Given the description of an element on the screen output the (x, y) to click on. 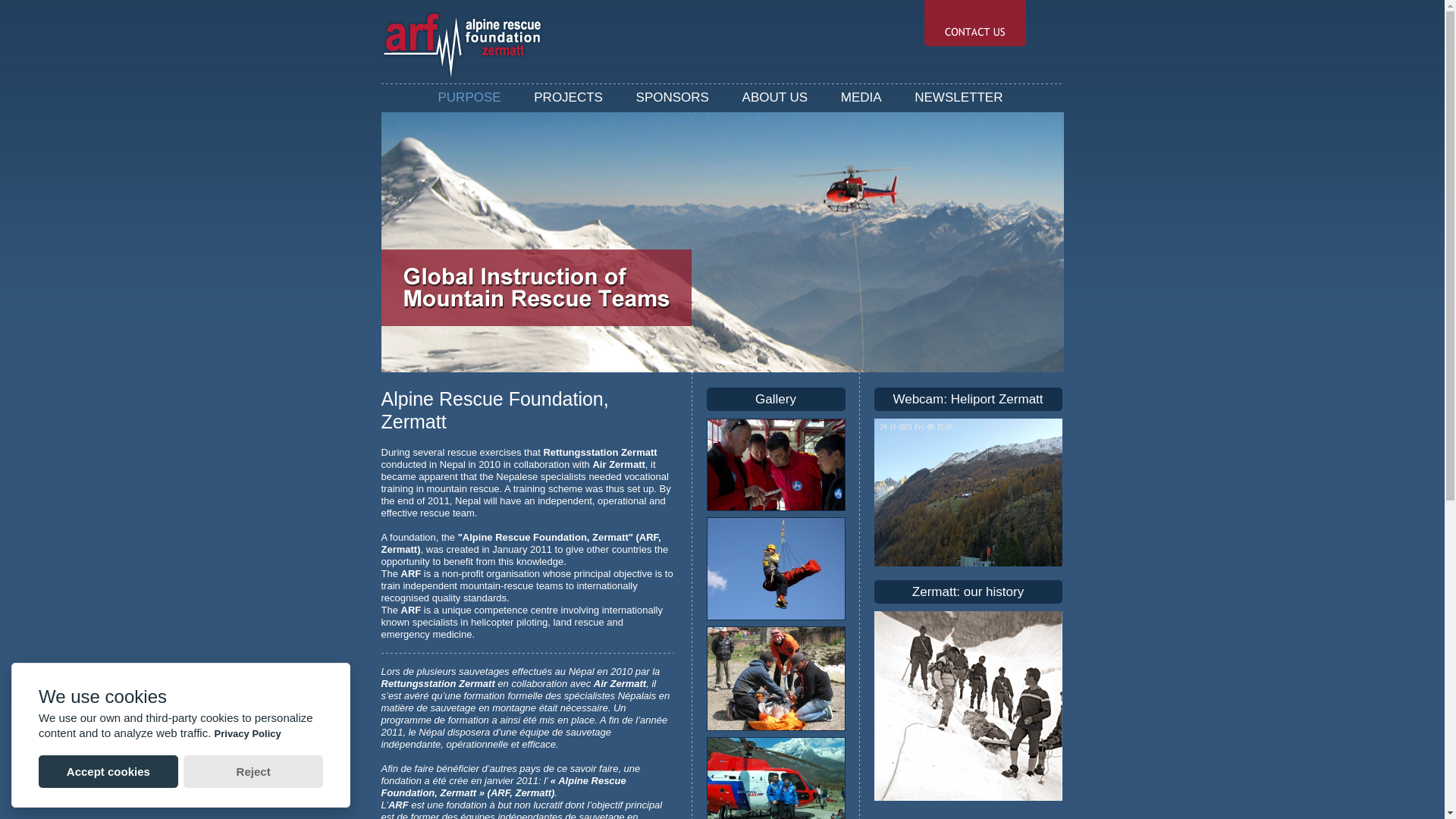
PROJECTS Element type: text (567, 97)
Reject Element type: text (253, 771)
Accept cookies Element type: text (108, 771)
ABOUT US Element type: text (775, 97)
SPONSORS Element type: text (672, 97)
MEDIA Element type: text (860, 97)
NEWSLETTER Element type: text (958, 97)
PURPOSE Element type: text (469, 97)
Privacy Policy Element type: text (247, 733)
